Given the description of an element on the screen output the (x, y) to click on. 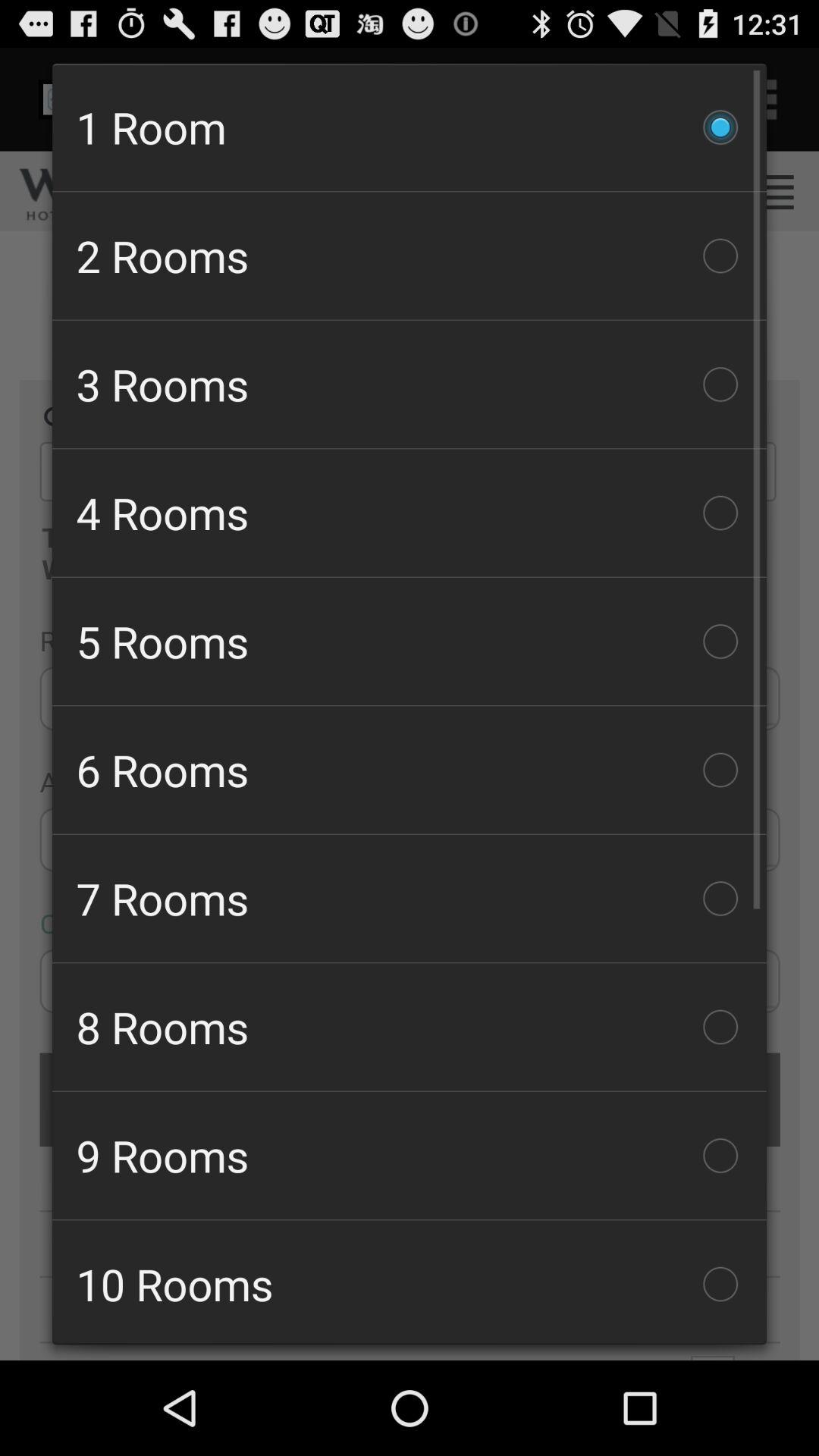
tap checkbox above the 9 rooms item (409, 1026)
